Given the description of an element on the screen output the (x, y) to click on. 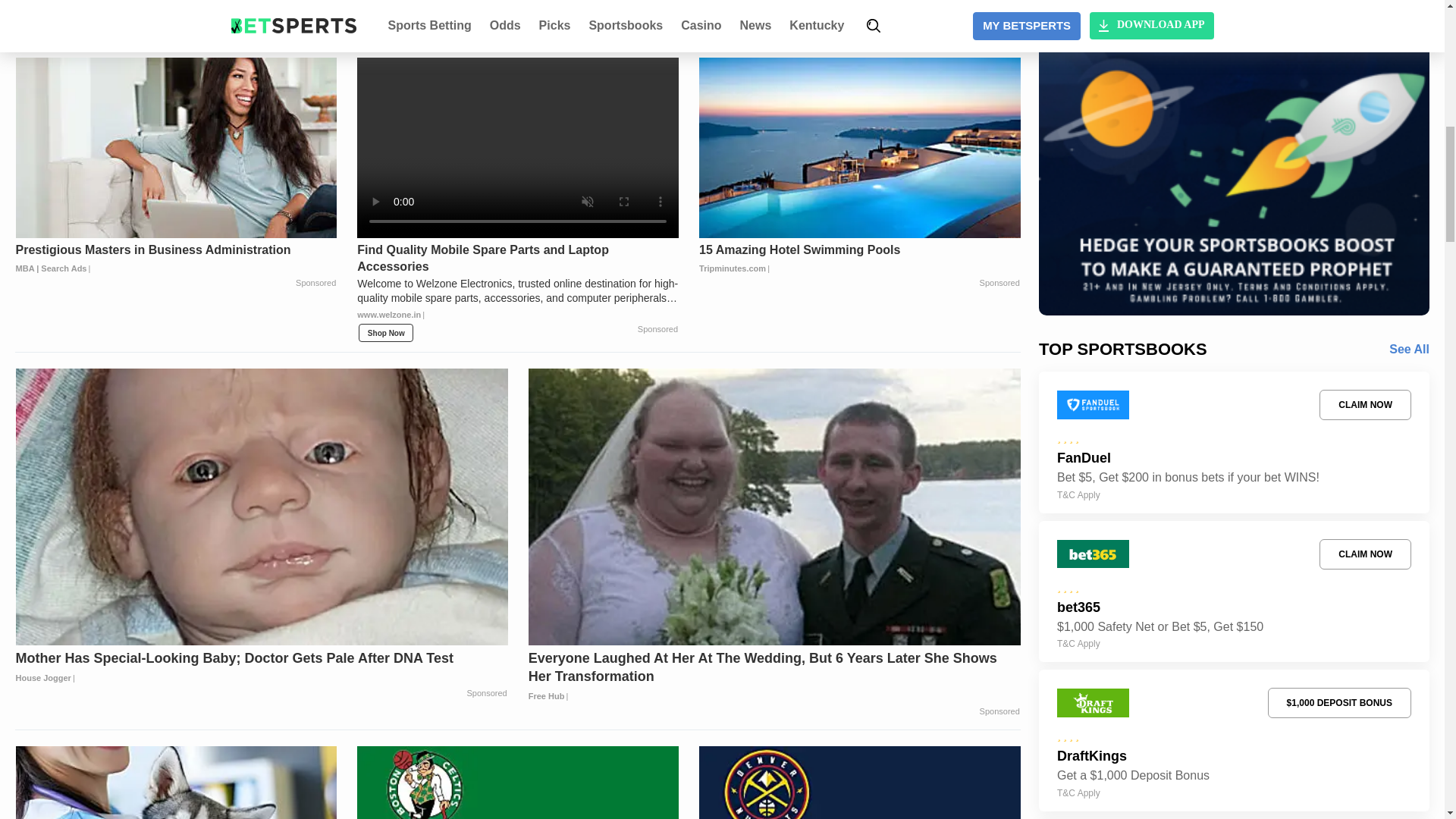
Prestigious Masters in Business Administration (176, 258)
15 Amazing Hotel Swimming Pools (859, 258)
